Given the description of an element on the screen output the (x, y) to click on. 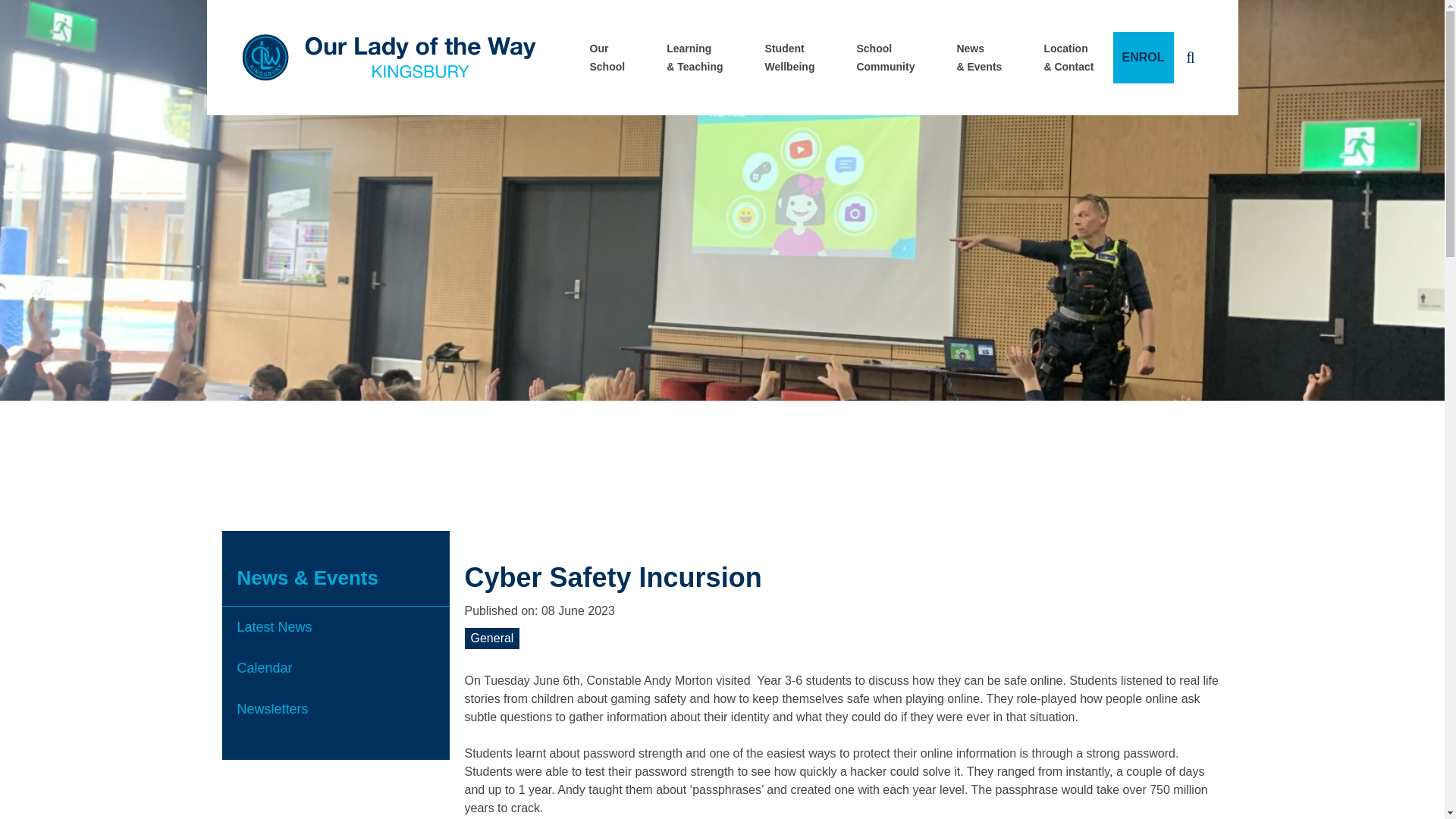
Latest News (790, 57)
ENROL (334, 626)
